Given the description of an element on the screen output the (x, y) to click on. 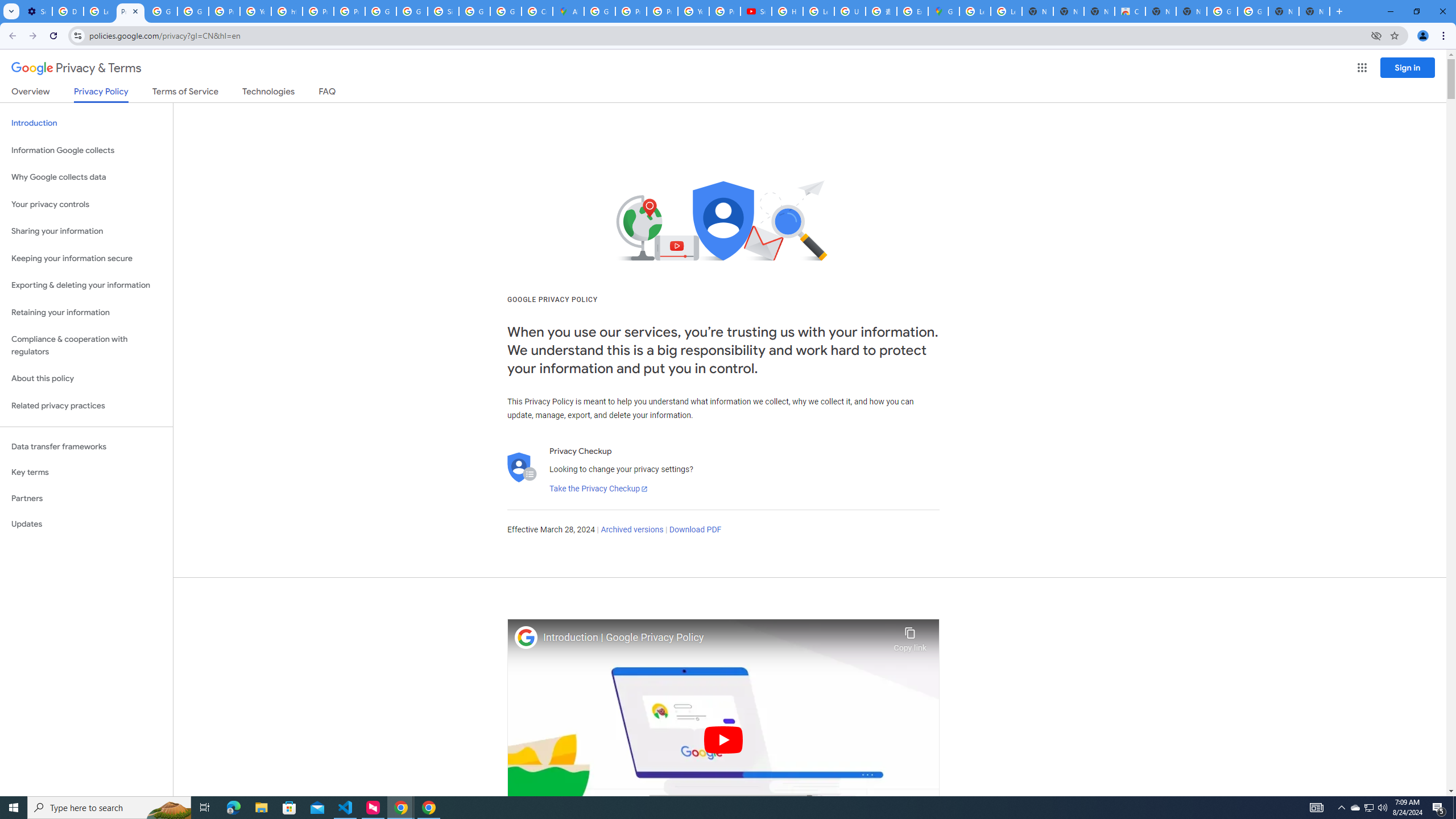
Partners (86, 497)
https://scholar.google.com/ (286, 11)
Information Google collects (86, 150)
Subscriptions - YouTube (756, 11)
